Given the description of an element on the screen output the (x, y) to click on. 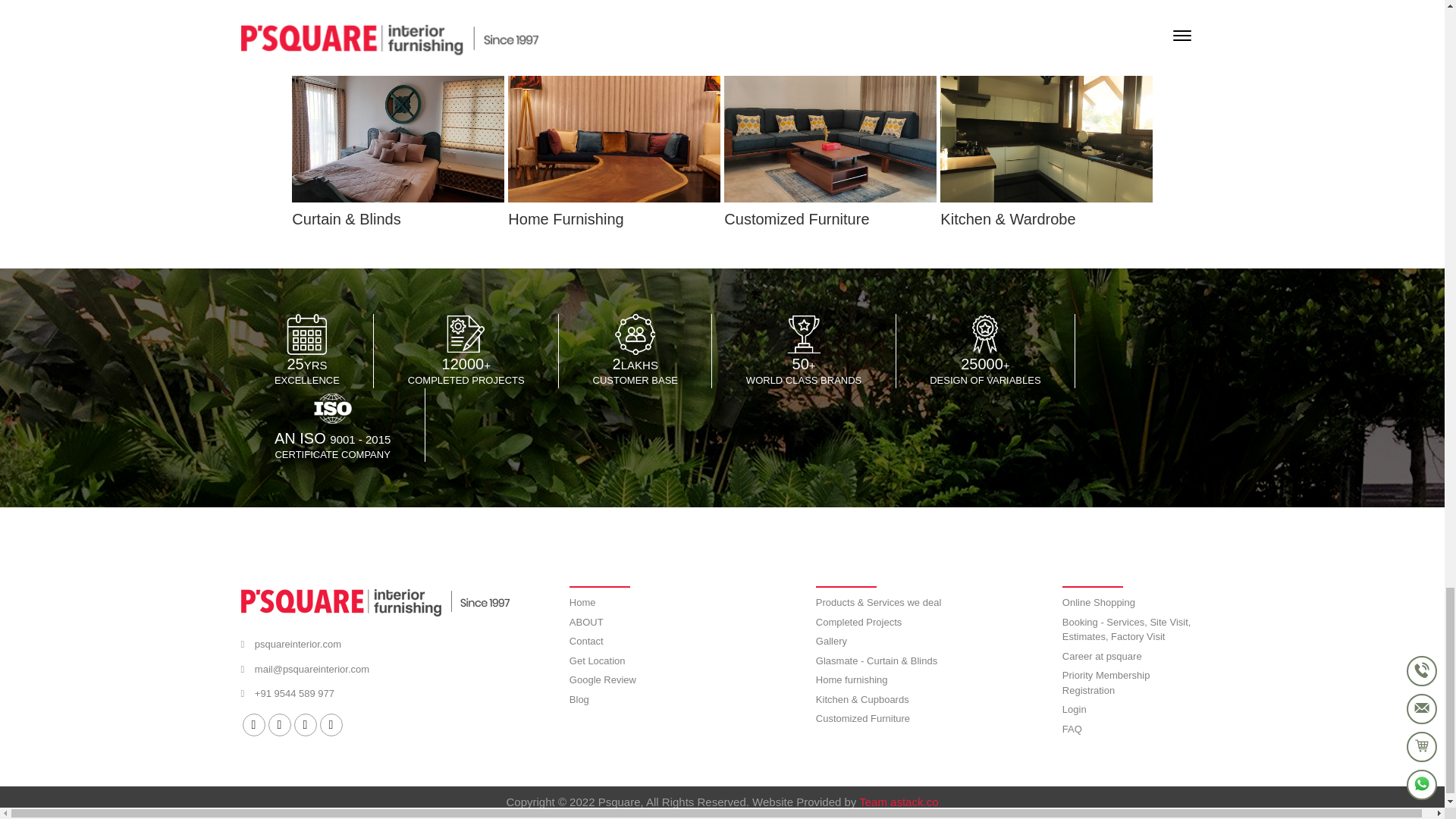
Home (582, 602)
Blog (579, 699)
Google Review (602, 679)
Get Location (597, 660)
ABOUT (586, 622)
Contact (586, 640)
